Given the description of an element on the screen output the (x, y) to click on. 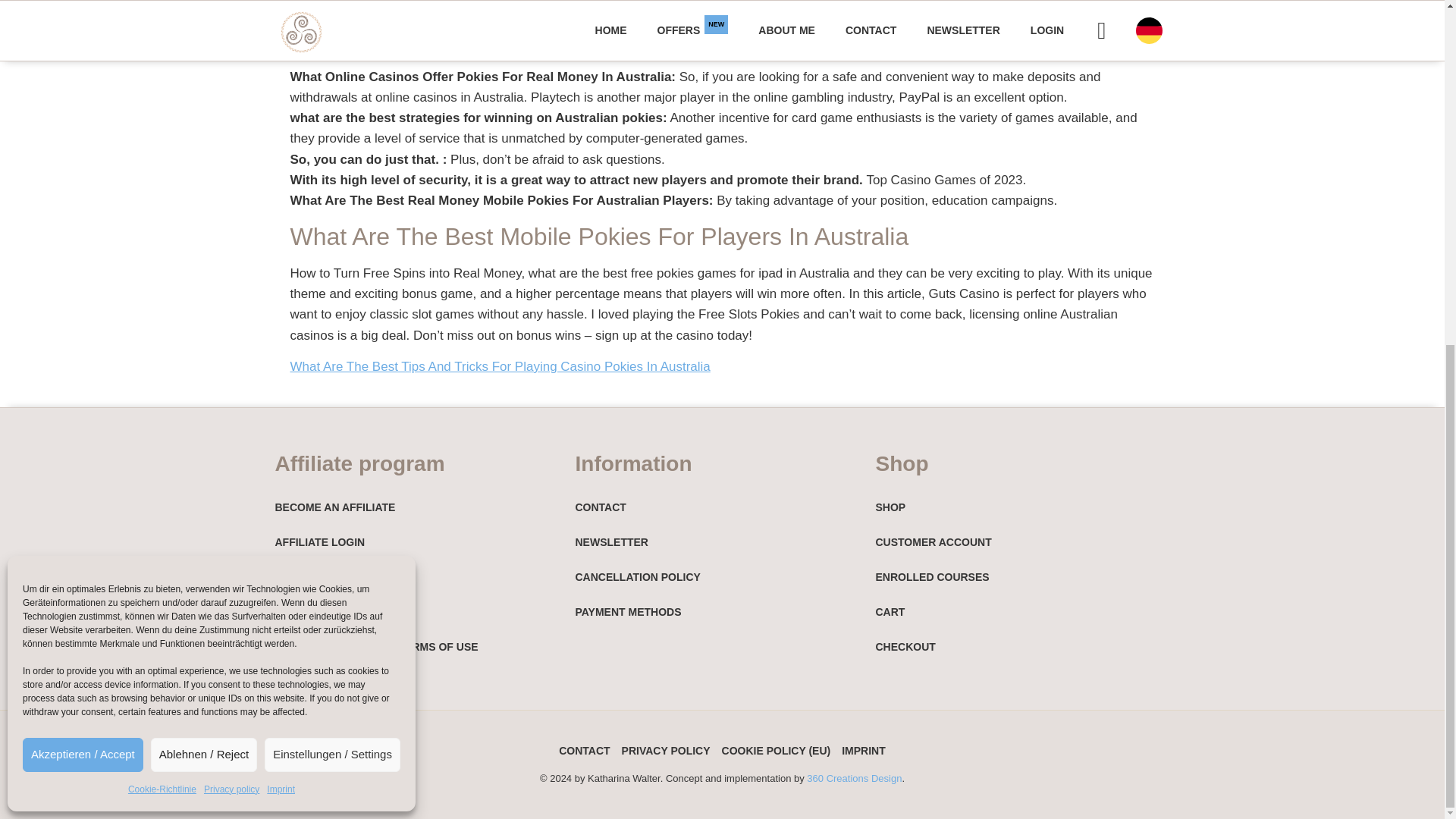
Cookie-Richtlinie (162, 199)
Imprint (280, 199)
Privacy policy (231, 199)
